Given the description of an element on the screen output the (x, y) to click on. 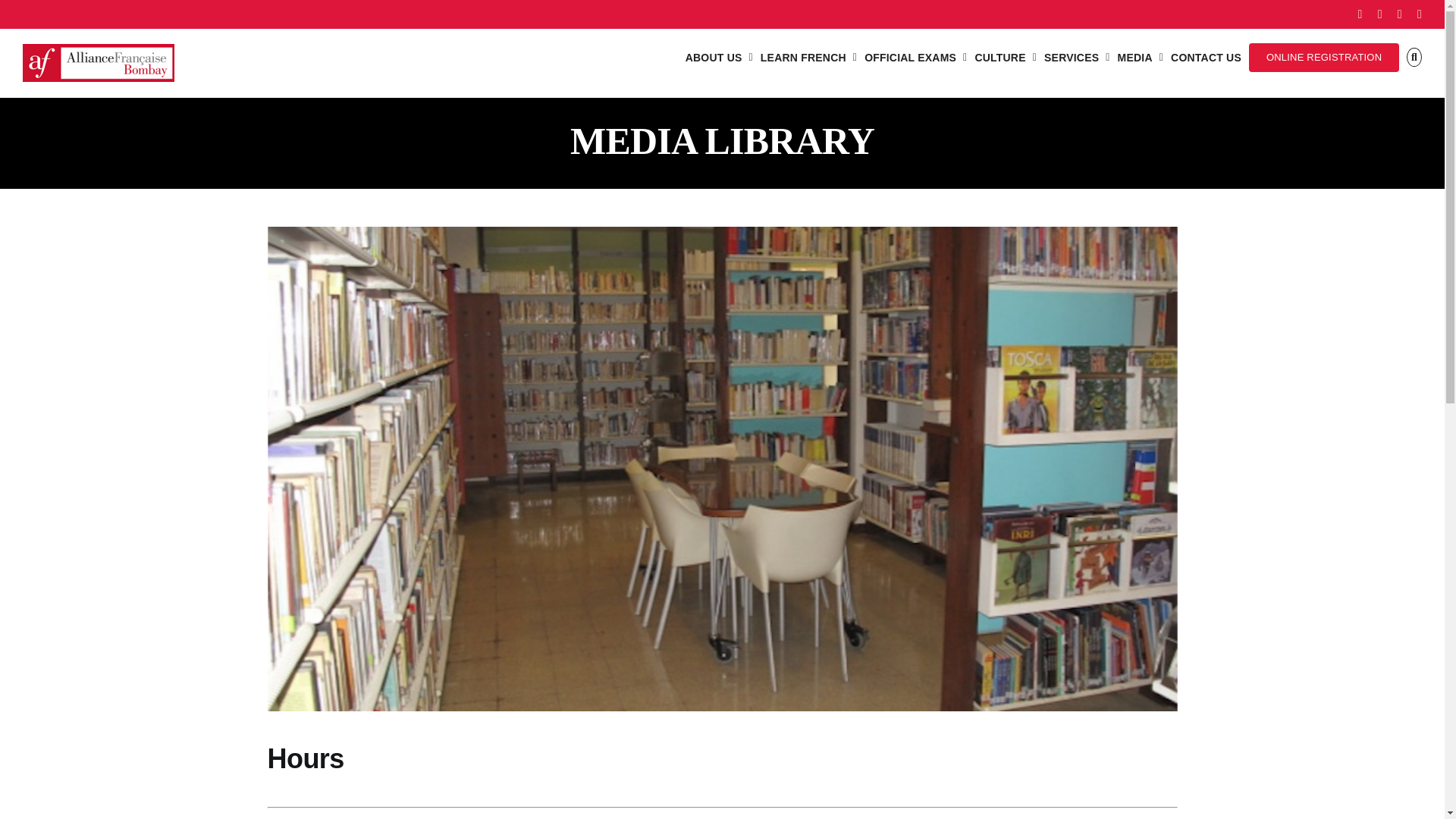
LEARN FRENCH (808, 56)
OFFICIAL EXAMS (915, 56)
ABOUT US (718, 56)
